Given the description of an element on the screen output the (x, y) to click on. 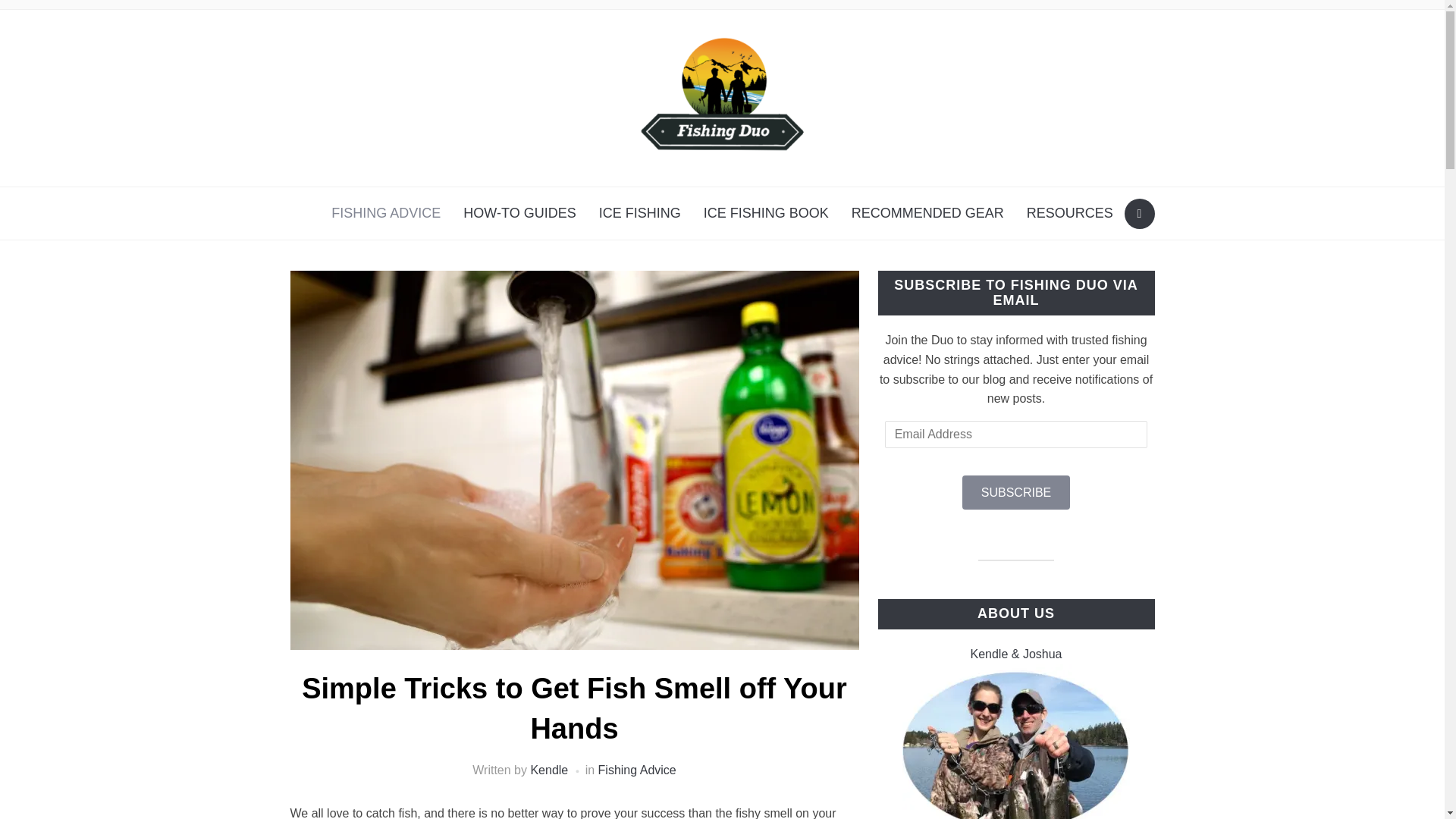
ICE FISHING (640, 212)
RECOMMENDED GEAR (927, 212)
Posts by Kendle (548, 769)
HOW-TO GUIDES (518, 212)
ICE FISHING BOOK (766, 212)
Search (1139, 214)
RESOURCES (1069, 212)
FISHING ADVICE (385, 212)
Kendle (548, 769)
Fishing Advice (637, 769)
